Given the description of an element on the screen output the (x, y) to click on. 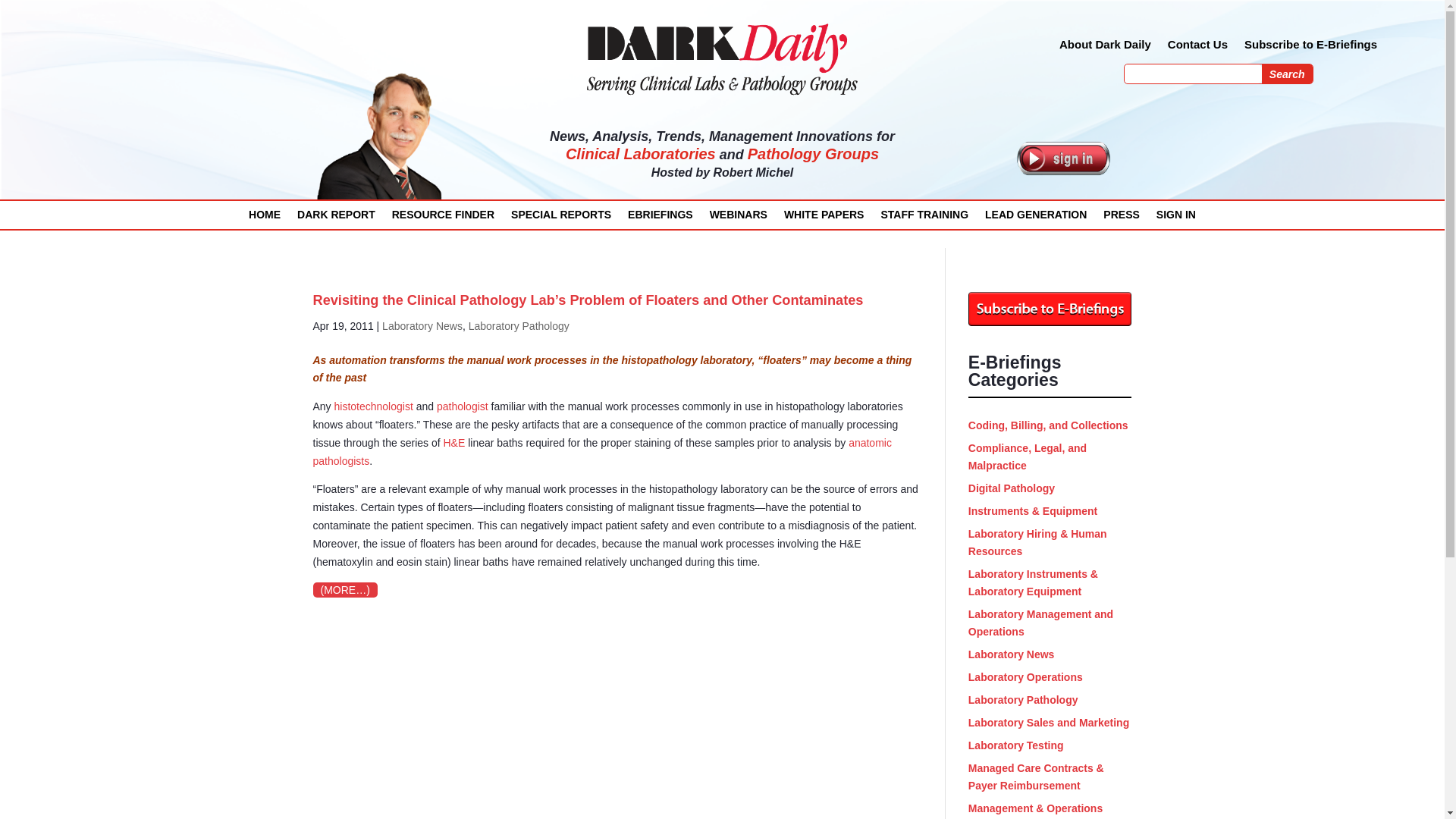
DARK REPORT (336, 217)
dark-daily-serving-clinical-labs (722, 58)
sign-in-for-dark-daily (1063, 158)
Contact Us (1197, 47)
About Dark Daily (1105, 47)
RESOURCE FINDER (443, 217)
Subscribe to E-Briefings (1310, 47)
Search (1287, 73)
robert-michael-dark-daily (380, 137)
HOME (264, 217)
Search (1287, 73)
Search (1287, 73)
